Given the description of an element on the screen output the (x, y) to click on. 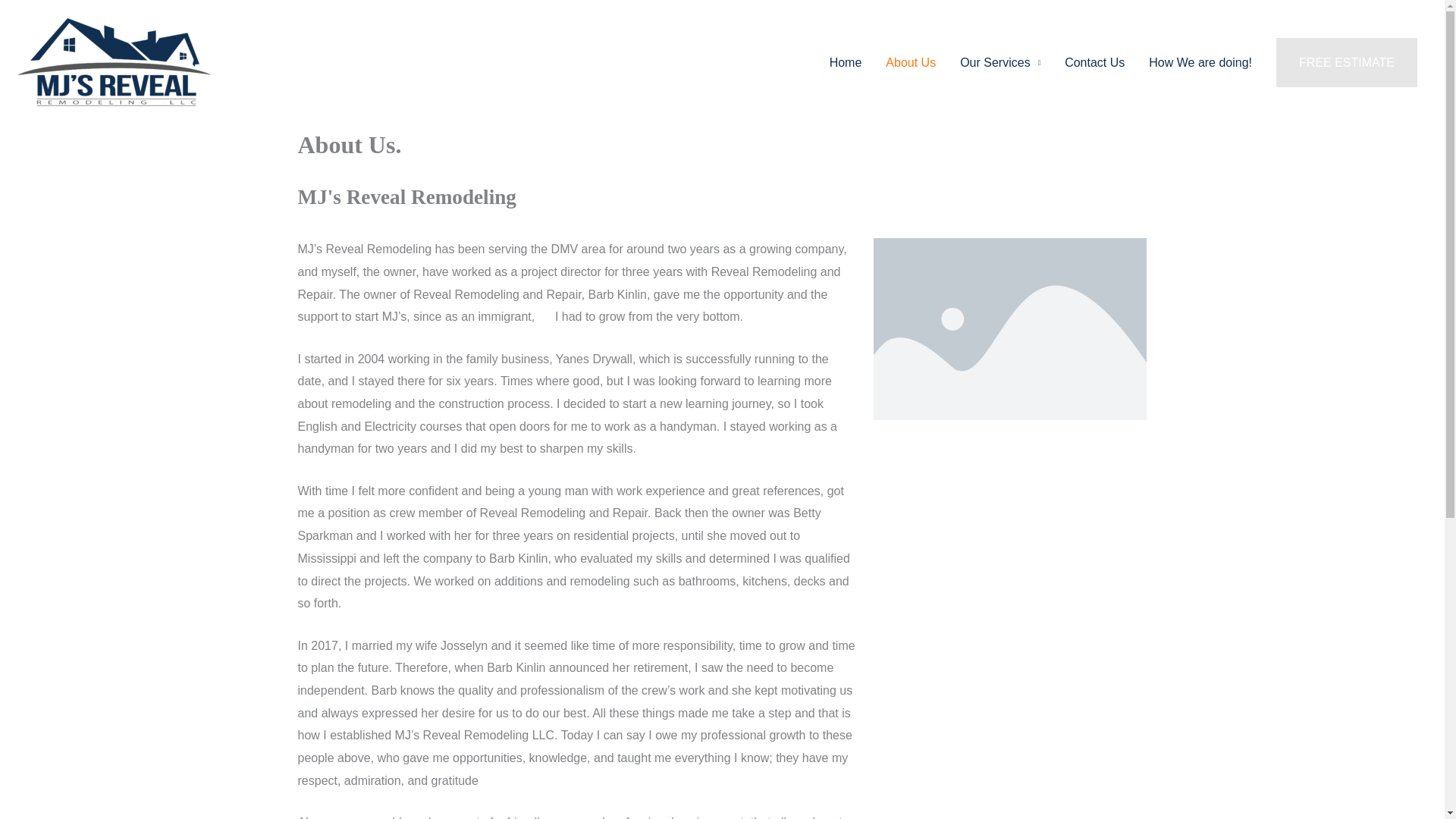
FREE ESTIMATE (1346, 62)
How We are doing! (1200, 62)
